Given the description of an element on the screen output the (x, y) to click on. 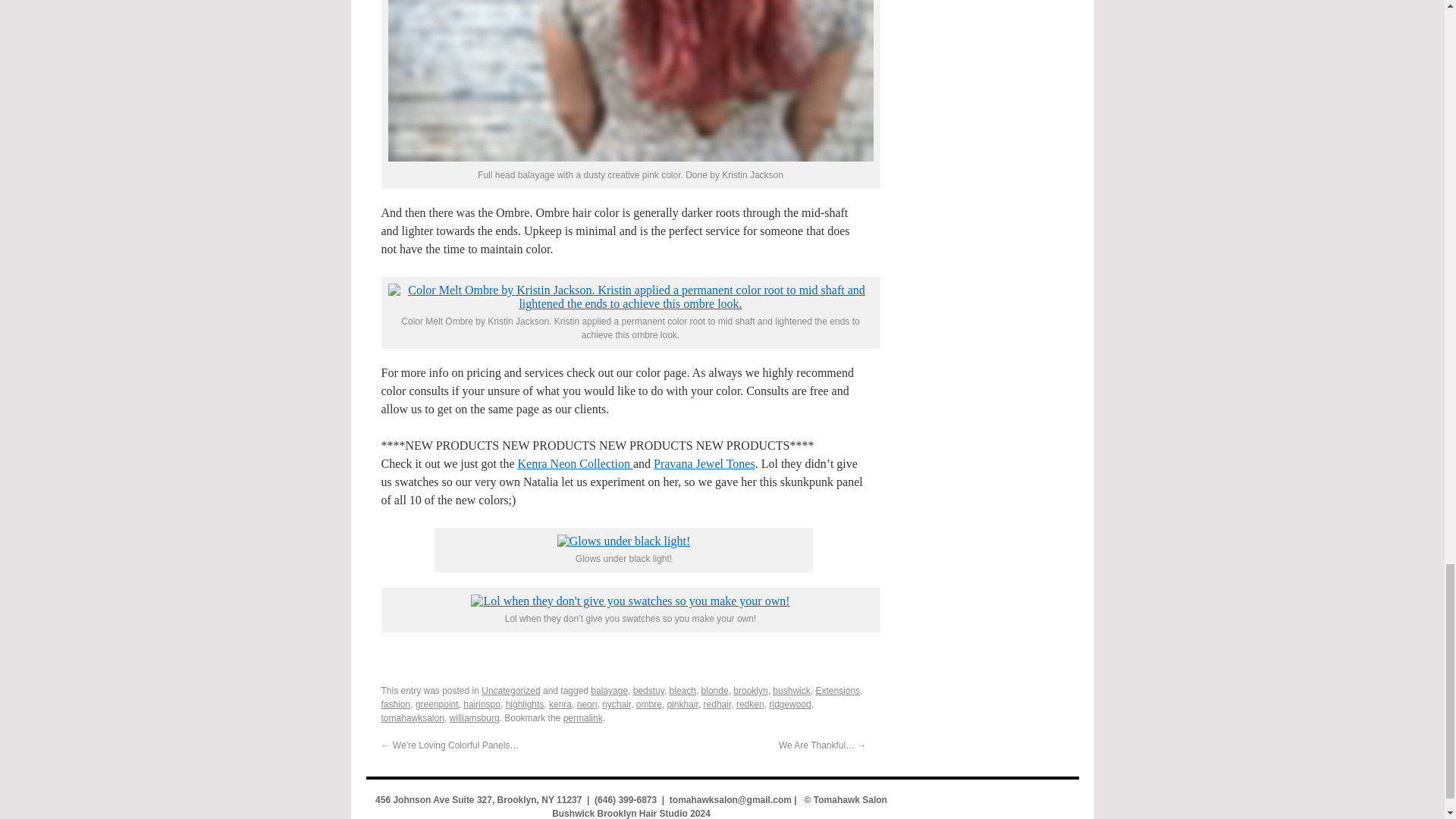
Kenra Neon Collection (573, 463)
Permalink to Balayage, Balayage, Balayage and Oh Ombre (582, 717)
kenra (560, 704)
brooklyn (750, 690)
nychair (616, 704)
fashion (395, 704)
balayage (609, 690)
ombre (649, 704)
redhair (717, 704)
highlights (524, 704)
